Given the description of an element on the screen output the (x, y) to click on. 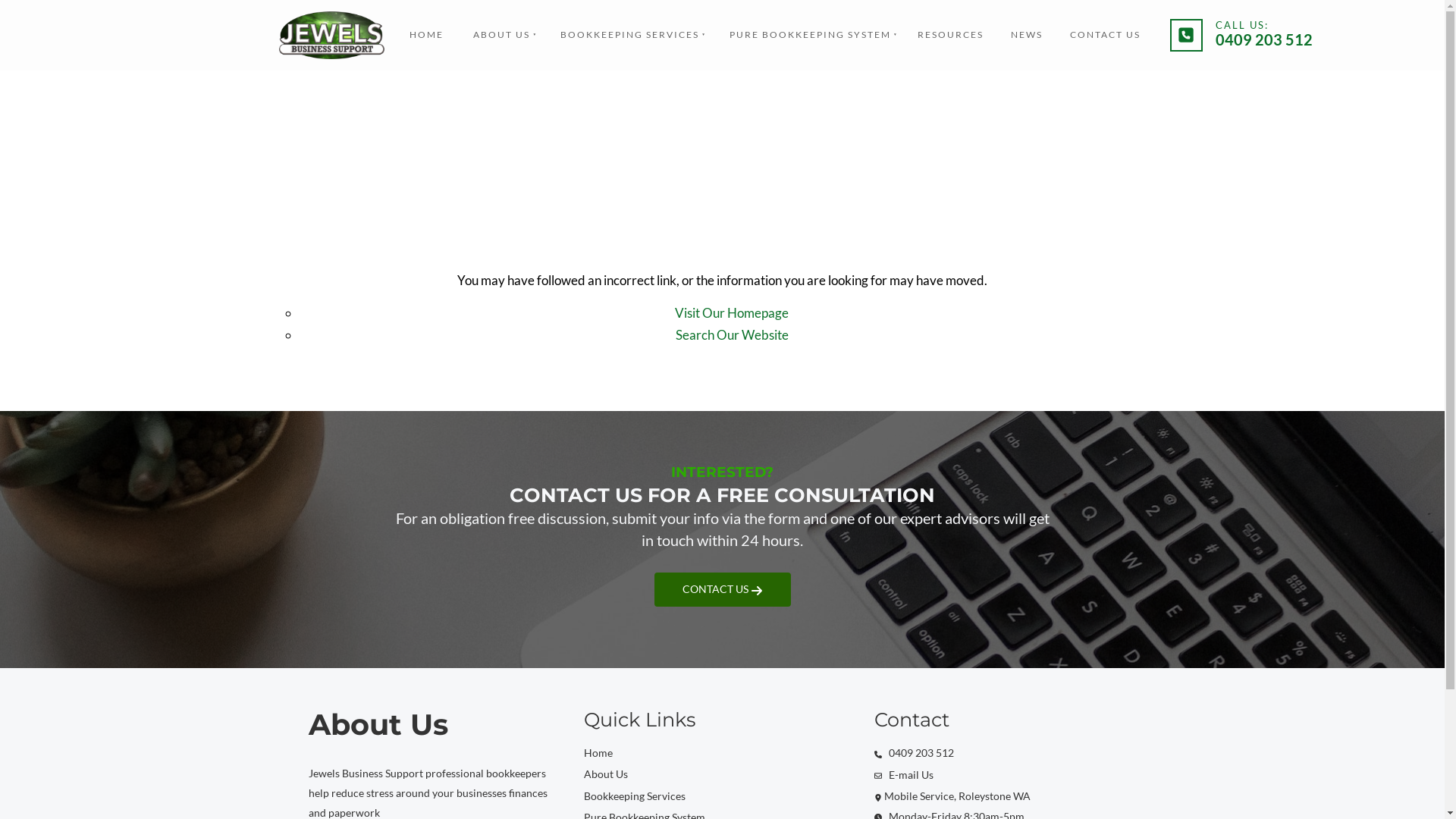
Visit Our Homepage Element type: text (731, 313)
RESOURCES Element type: text (950, 34)
BOOKKEEPING SERVICES Element type: text (627, 34)
  0409 203 512 Element type: text (913, 753)
PURE BOOKKEEPING SYSTEM Element type: text (808, 34)
CONTACT US Element type: text (721, 588)
Bookkeeping Services Element type: text (634, 796)
0409 203 512 Element type: text (1263, 38)
ABOUT US Element type: text (499, 34)
NEWS Element type: text (1026, 34)
  E-mail Us Element type: text (902, 775)
Home Element type: text (597, 753)
HOME Element type: text (426, 34)
About Us Element type: text (605, 774)
Search Our Website Element type: text (731, 335)
CONTACT US Element type: text (1105, 34)
